Given the description of an element on the screen output the (x, y) to click on. 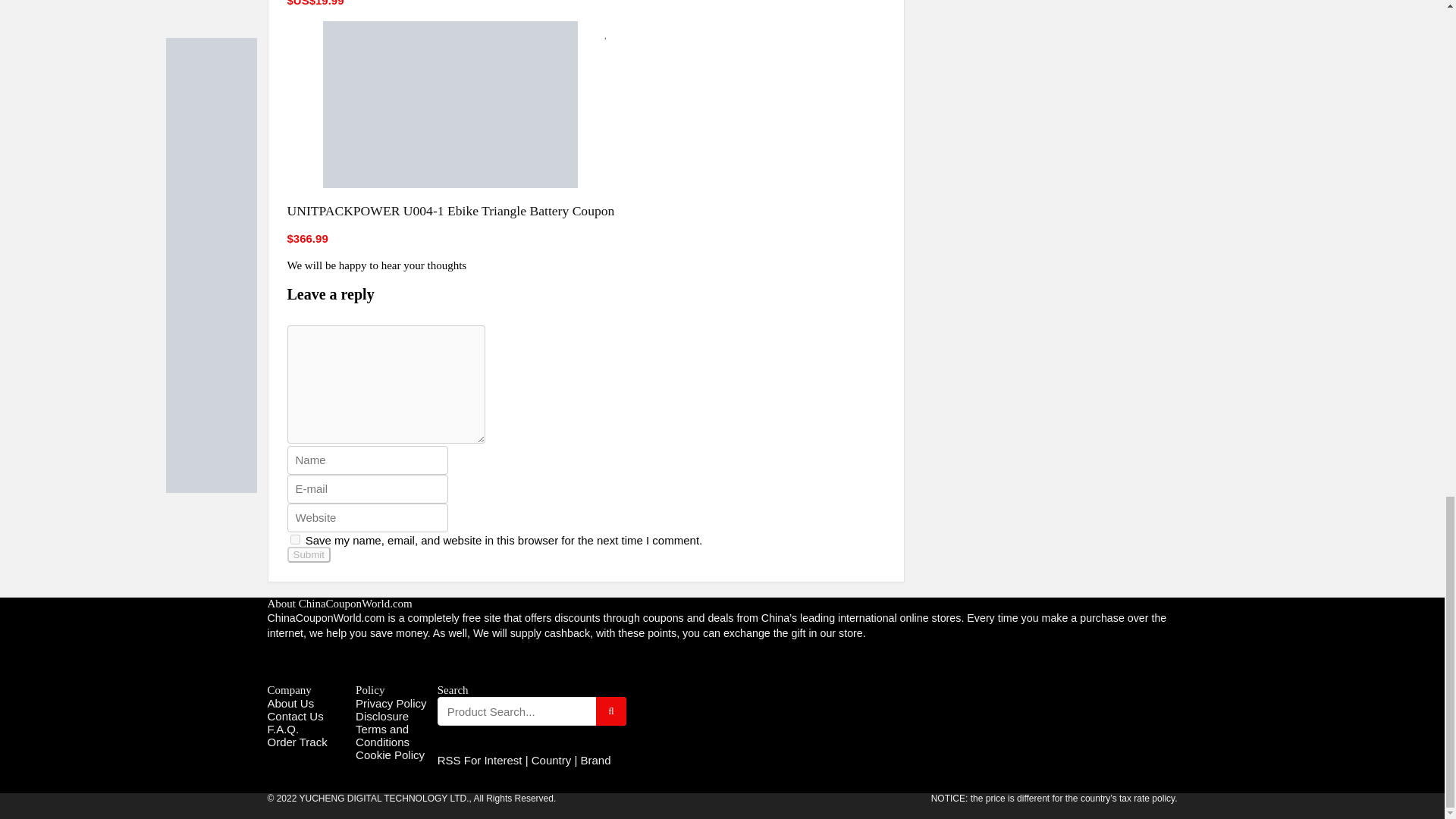
Submit (308, 554)
UNITPACKPOWER U004-1 Ebike Triangle Battery Coupon (450, 210)
Submit (308, 554)
ChinaCouponWorld.com (325, 617)
yes (294, 539)
